Given the description of an element on the screen output the (x, y) to click on. 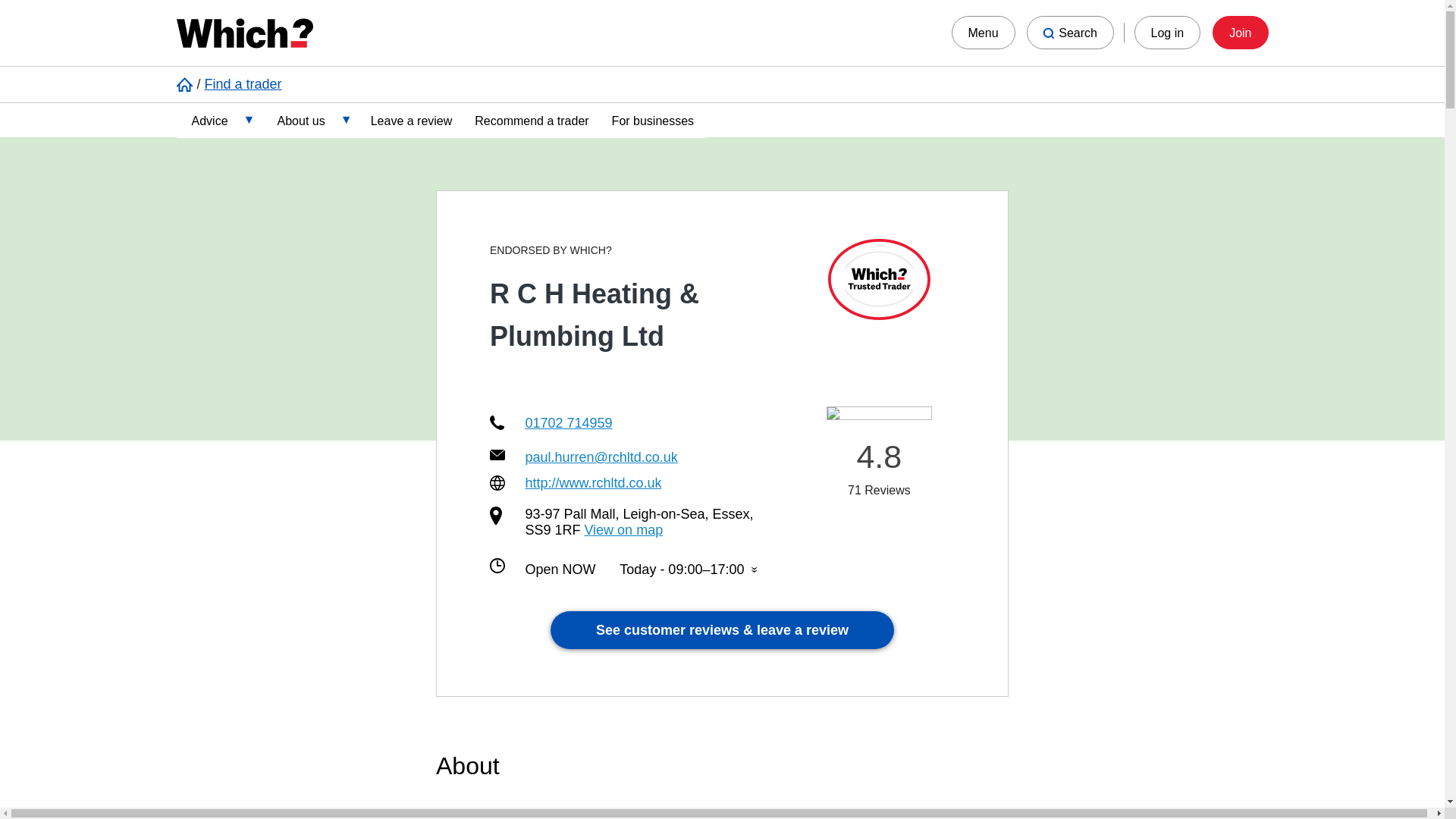
Advice (219, 119)
Menu (983, 32)
Cost guide (284, 159)
Find a trader (243, 83)
Log in (1167, 32)
Design (284, 199)
Hiring a trader (284, 319)
General information (284, 279)
Search (1069, 32)
Join (1240, 32)
Click to see all opening hours (689, 569)
Gardening (284, 239)
